Given the description of an element on the screen output the (x, y) to click on. 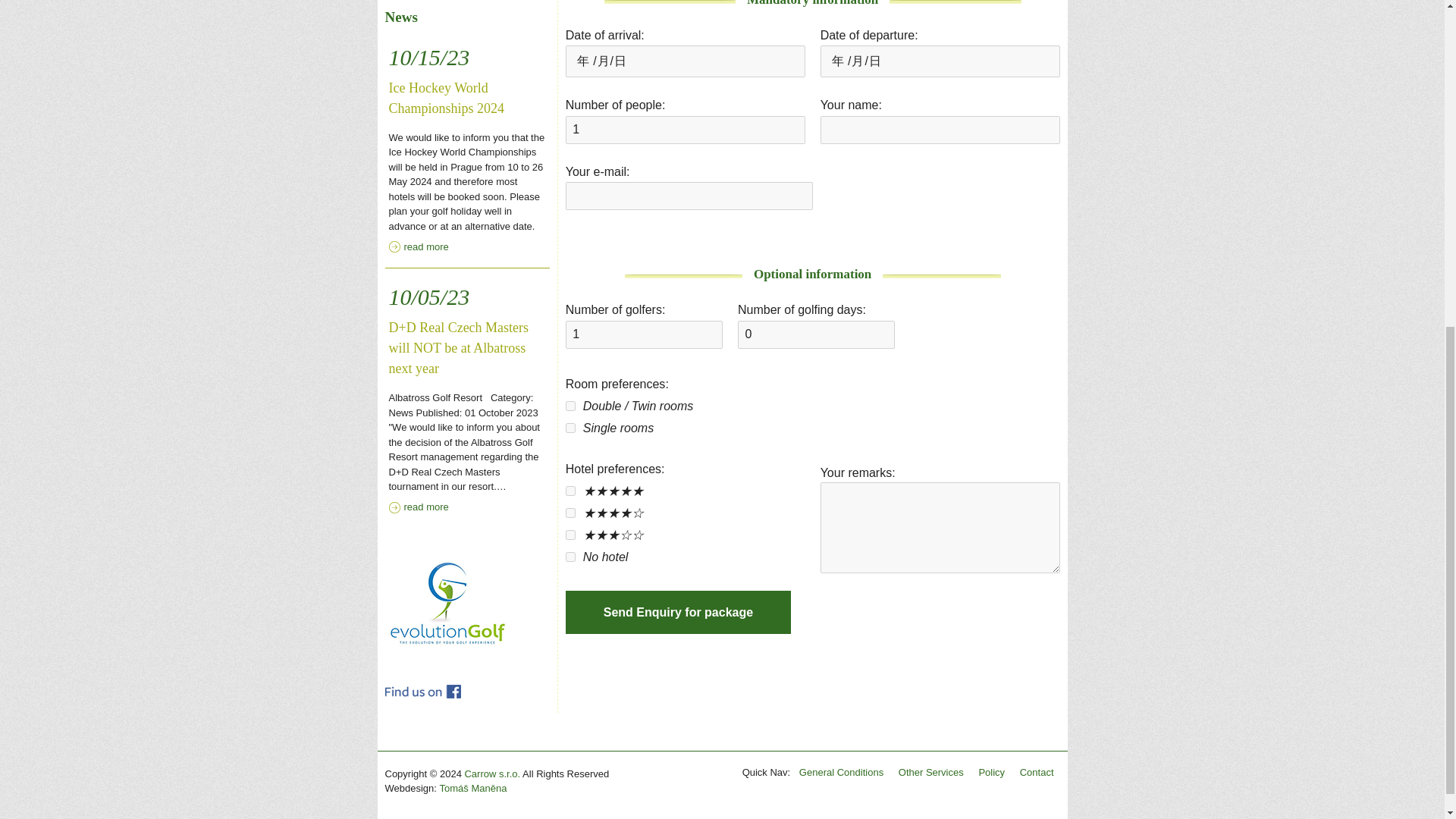
10 (570, 428)
Policy (991, 772)
7 (570, 534)
0 (816, 334)
Other Services (930, 772)
9 (570, 406)
Carrow s.r.o. (491, 774)
1 (467, 600)
8 (685, 130)
Contact (570, 556)
1 (1036, 772)
General Conditions (644, 334)
6 (841, 772)
5 (570, 512)
